Given the description of an element on the screen output the (x, y) to click on. 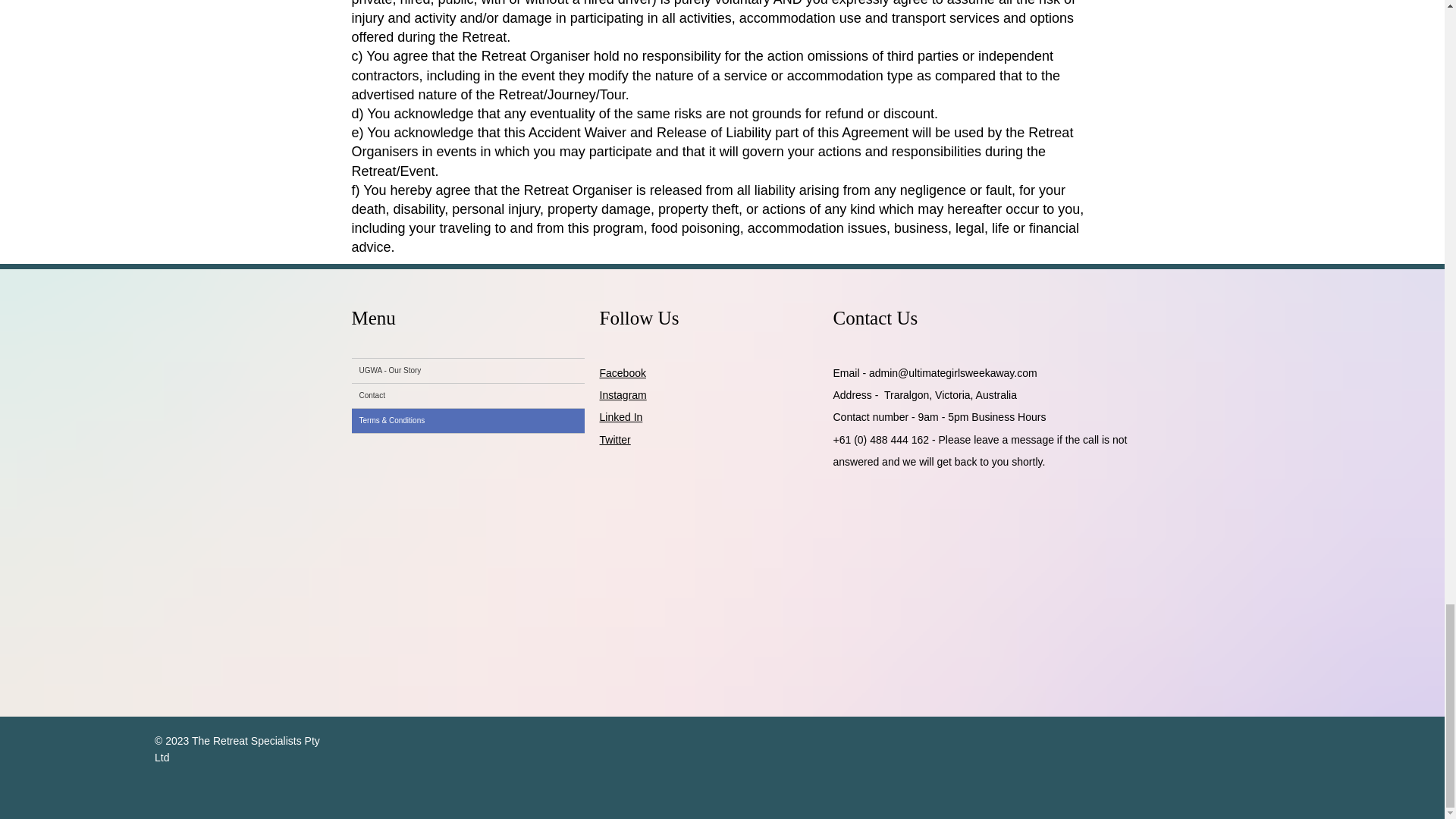
Twitter (614, 439)
Linked In (620, 417)
UGWA - Our Story (468, 370)
Instagram (622, 395)
Facebook (621, 372)
Contact (468, 395)
